Given the description of an element on the screen output the (x, y) to click on. 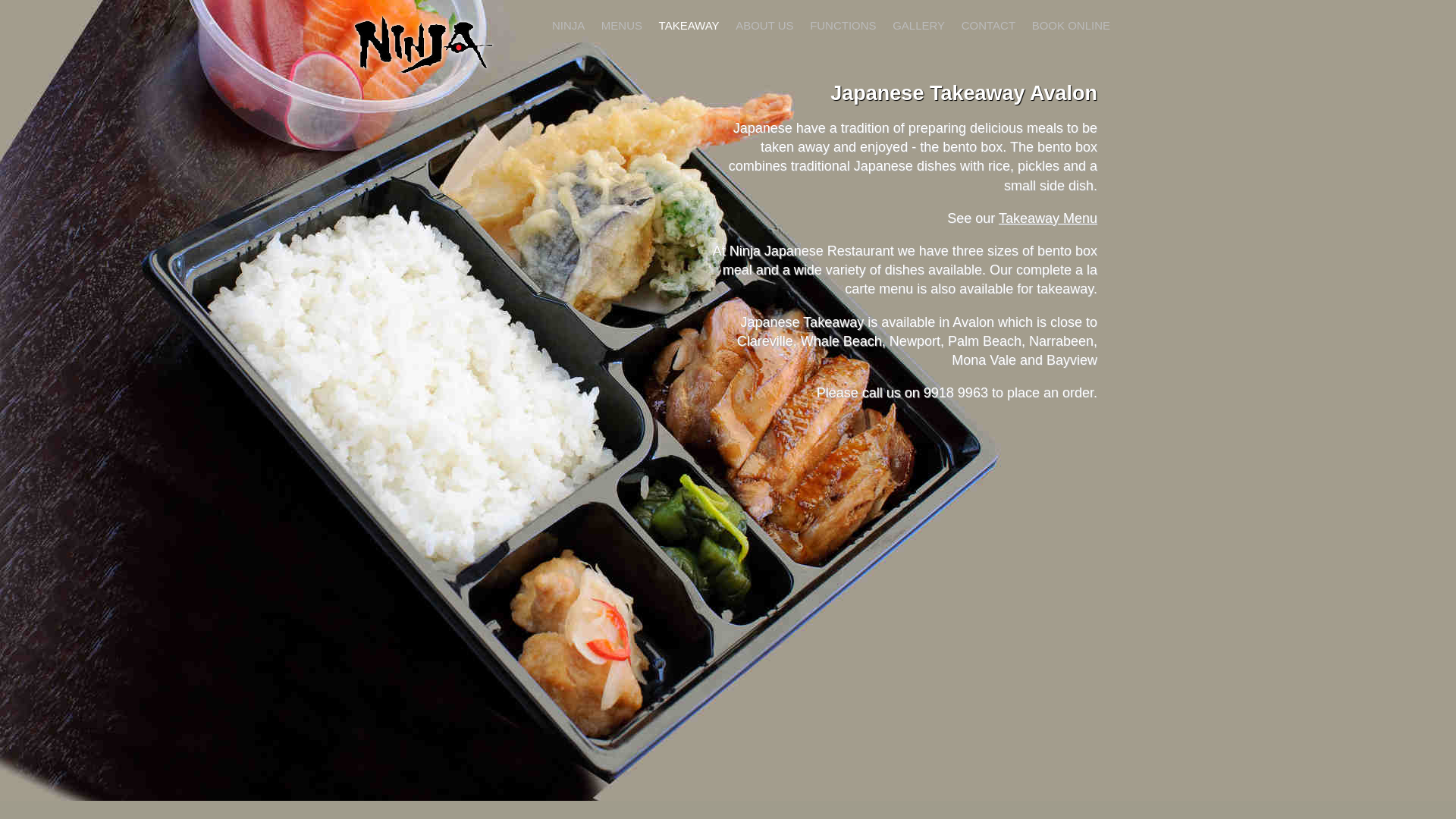
NINJA Element type: text (568, 23)
Takeaway Menu Element type: text (1047, 217)
CONTACT Element type: text (988, 23)
ABOUT US Element type: text (764, 23)
GALLERY Element type: text (918, 23)
BOOK ONLINE Element type: text (1071, 23)
MENUS Element type: text (621, 23)
FUNCTIONS Element type: text (842, 23)
